Given the description of an element on the screen output the (x, y) to click on. 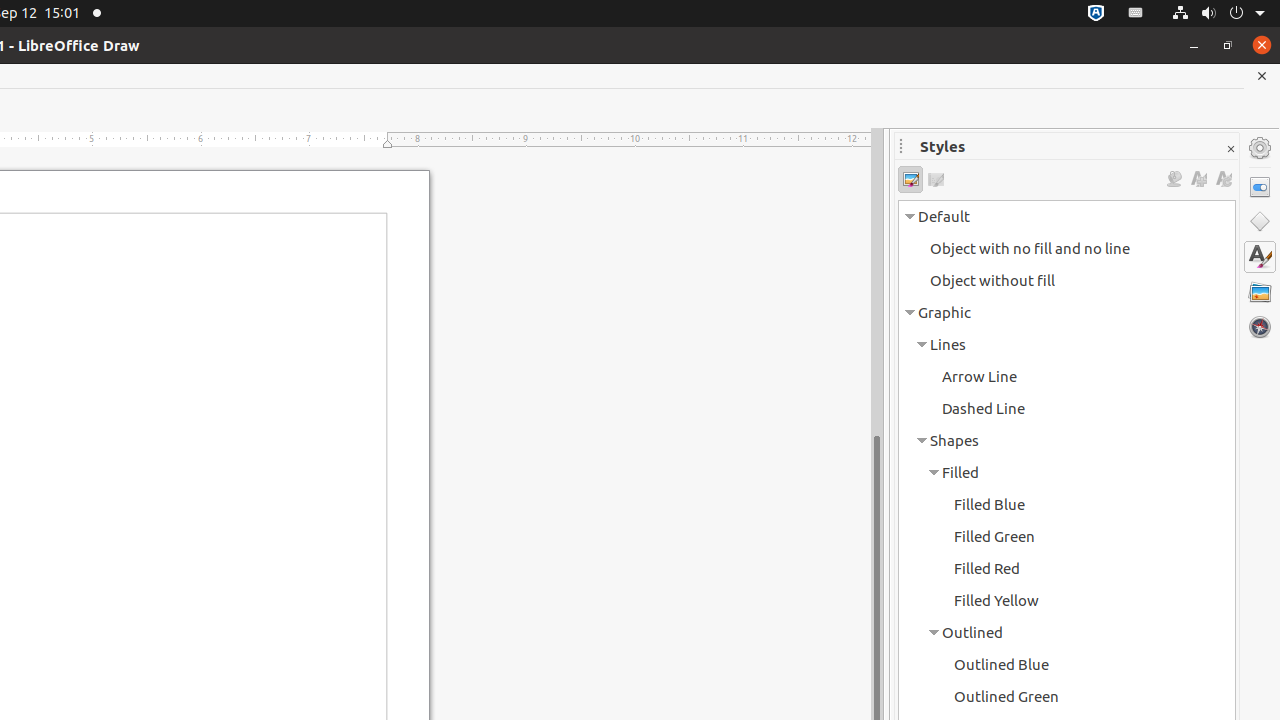
:1.72/StatusNotifierItem Element type: menu (1096, 13)
System Element type: menu (1218, 13)
Update Style Element type: push-button (1223, 179)
Drawing Styles Element type: push-button (910, 179)
